Given the description of an element on the screen output the (x, y) to click on. 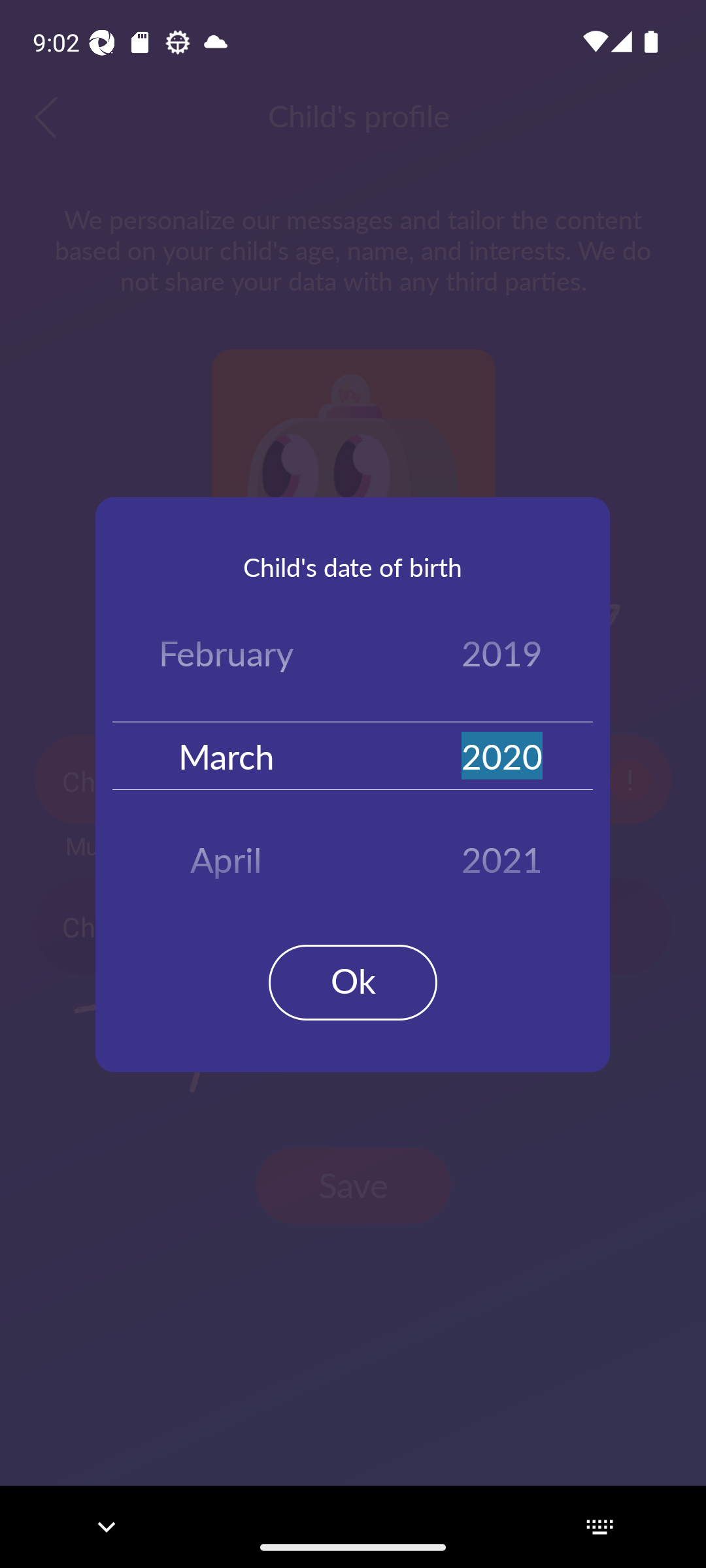
February (226, 656)
2019 (501, 656)
March (226, 754)
2020 (501, 754)
April (226, 852)
2021 (501, 852)
Ok (352, 981)
